Given the description of an element on the screen output the (x, y) to click on. 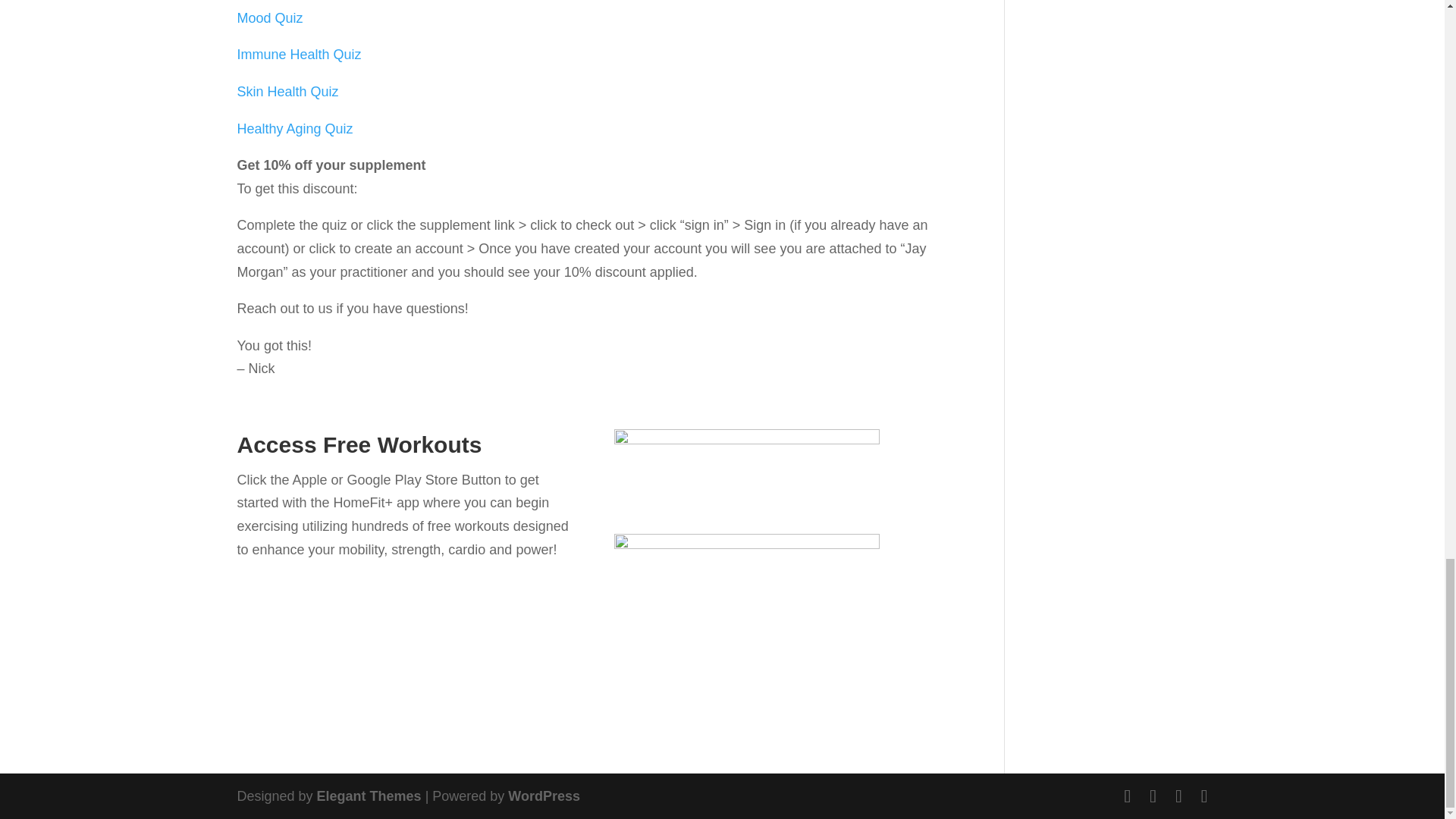
Premium WordPress Themes (369, 795)
f8d64a79-c984-1ace-d477-8b9a15ddee52 (746, 576)
Healthy Aging Quiz (293, 128)
WordPress (543, 795)
Immune Health Quiz (298, 54)
39b5570a-a49b-b030-43af-d3e6775eb004 (746, 471)
Elegant Themes (369, 795)
Skin Health Quiz (286, 91)
Mood Quiz (268, 17)
